Given the description of an element on the screen output the (x, y) to click on. 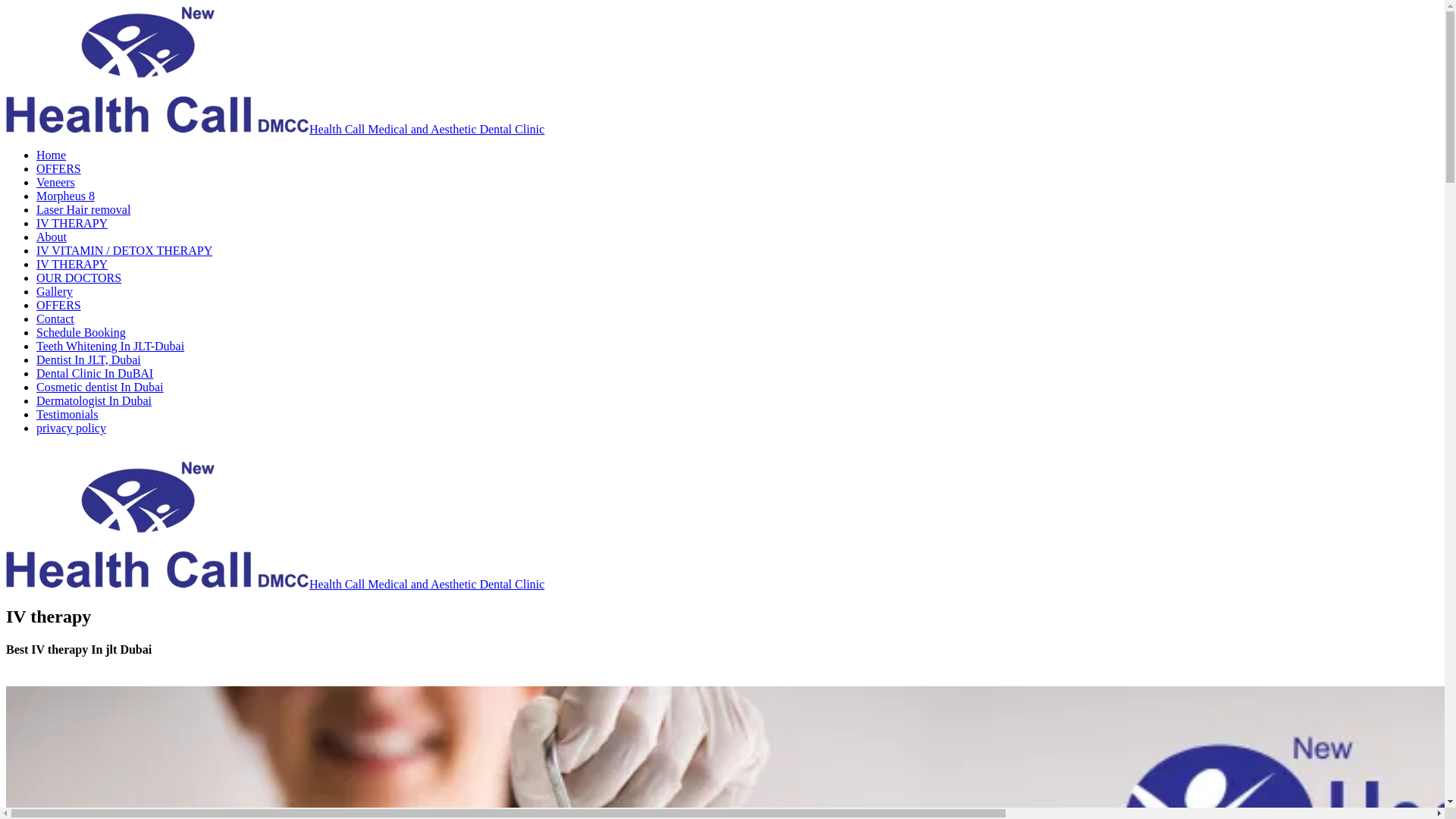
Health Call Medical and Aesthetic Dental Clinic (274, 128)
Morpheus 8 (65, 195)
IV THERAPY (71, 264)
IV THERAPY (71, 223)
Gallery (54, 291)
OFFERS (58, 305)
Home (50, 154)
Dental Clinic In DuBAI (94, 373)
OUR DOCTORS (78, 277)
Dermatologist In Dubai (93, 400)
